Given the description of an element on the screen output the (x, y) to click on. 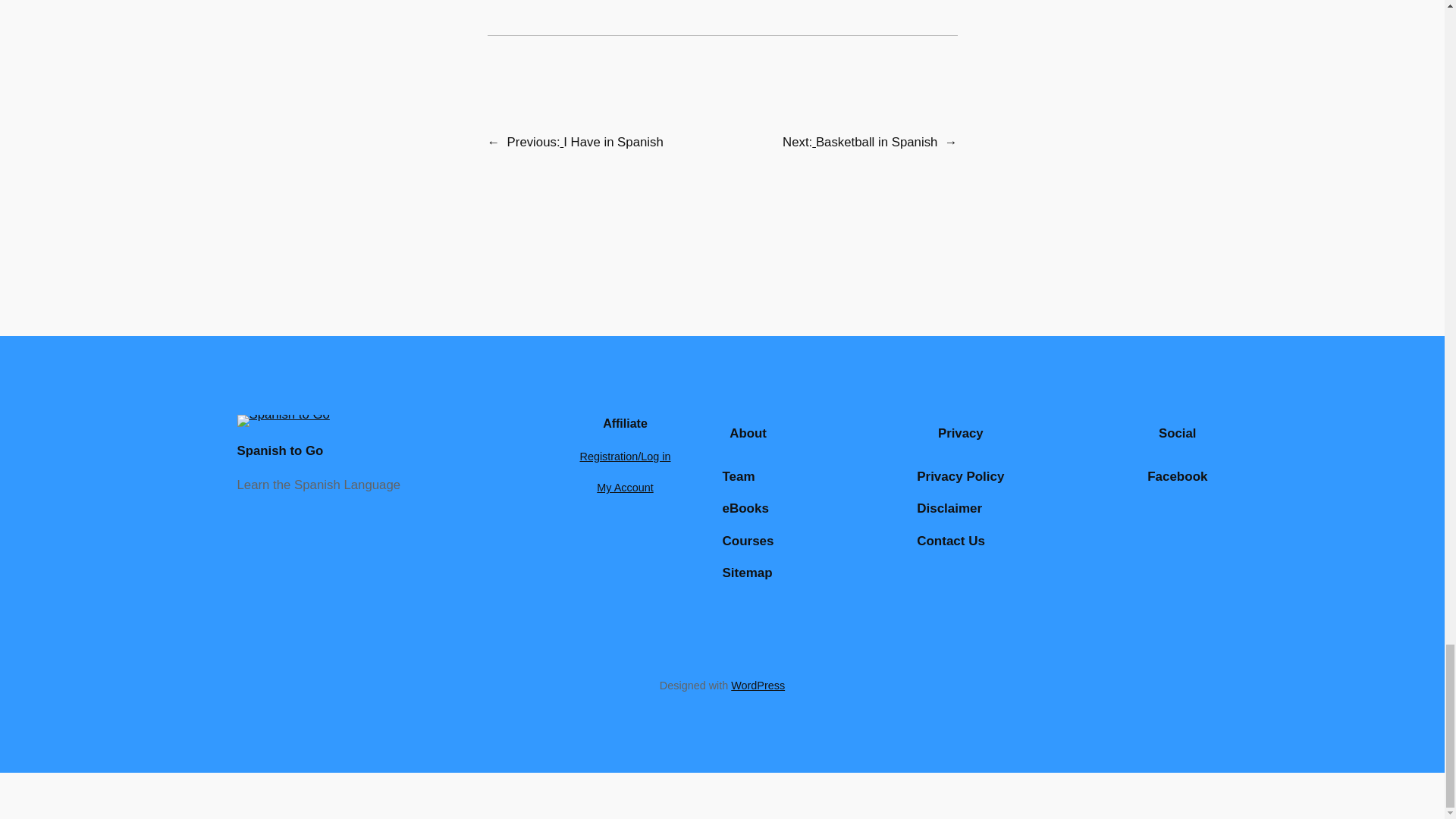
Previous: I Have in Spanish (584, 142)
Spanish to Go (279, 450)
eBooks (745, 508)
Courses (747, 541)
Team (738, 476)
Next: Basketball in Spanish (860, 142)
Sitemap (746, 573)
My Account (624, 487)
